Given the description of an element on the screen output the (x, y) to click on. 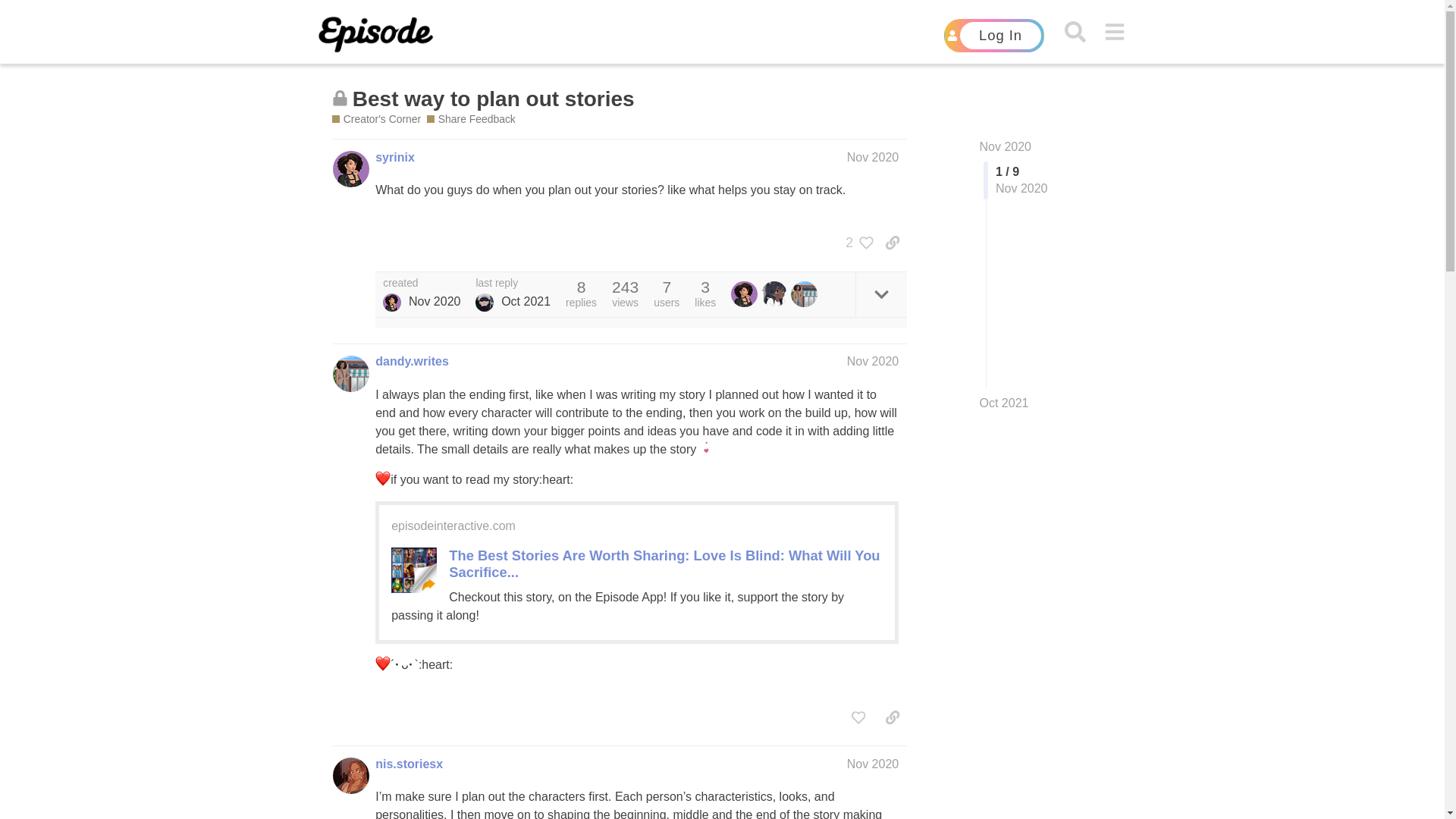
nis.storiesx (408, 764)
Nov 2020 (873, 360)
dandy.writes (411, 361)
Sydney Han (484, 302)
Log In (993, 35)
Nov 2020 (1005, 146)
menu (1114, 32)
episodeinteractive.com (453, 525)
Post date (873, 156)
Best way to plan out stories (493, 98)
2 (855, 242)
Search (1074, 32)
Share Feedback (470, 119)
Jump to the last post (1004, 402)
